Given the description of an element on the screen output the (x, y) to click on. 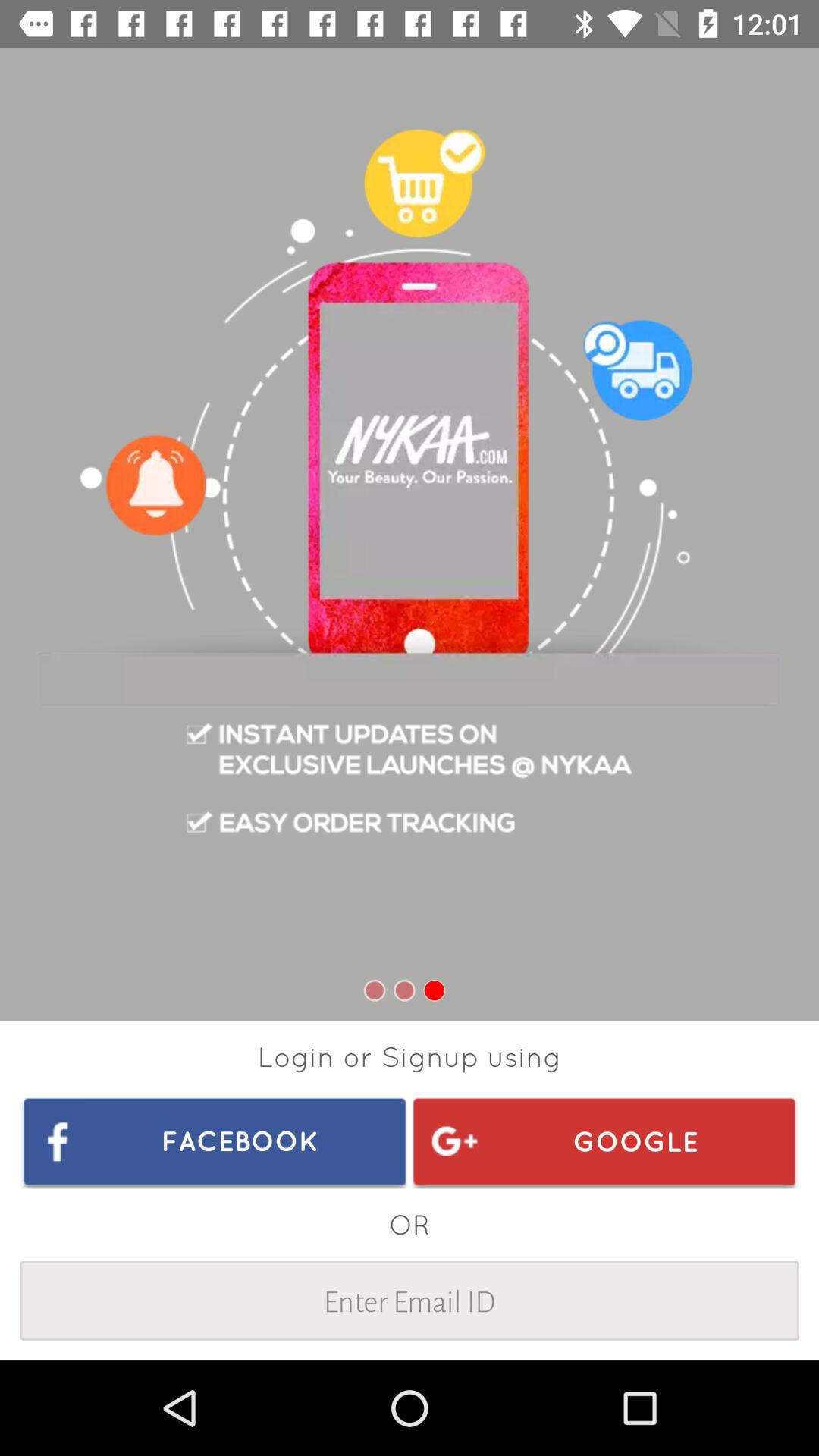
jump to the facebook icon (214, 1140)
